Given the description of an element on the screen output the (x, y) to click on. 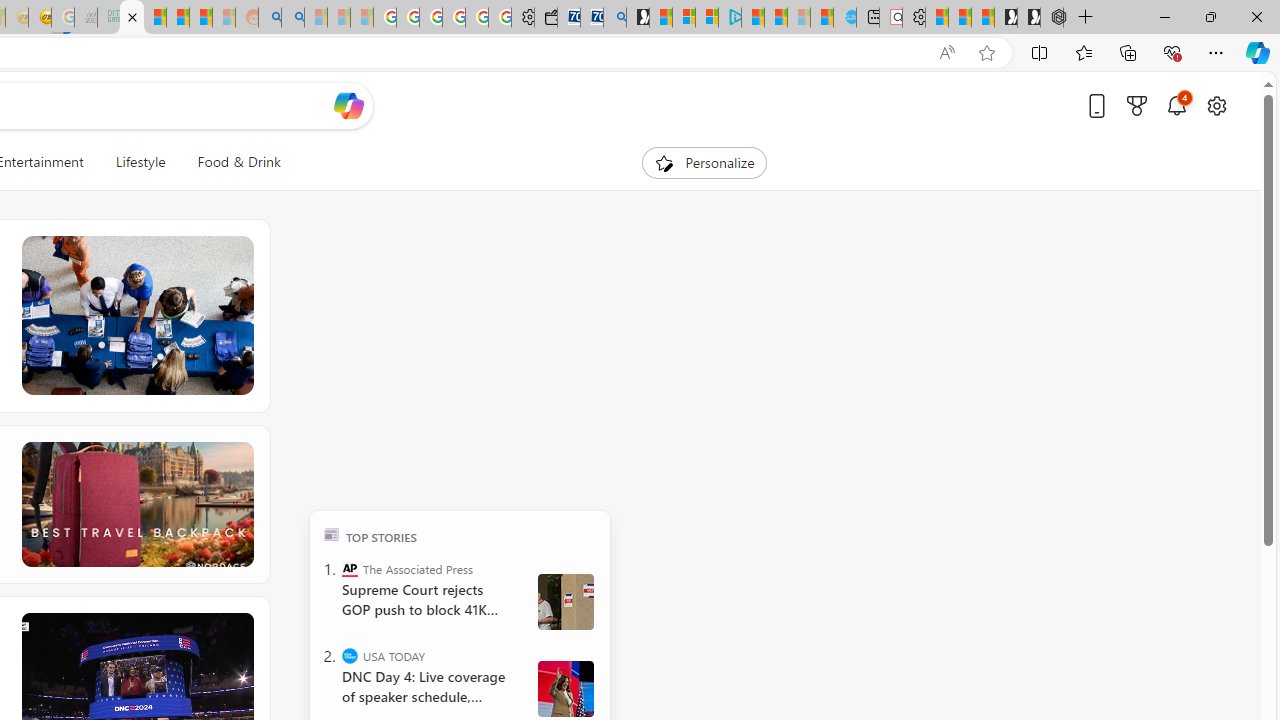
Utah sues federal government - Search (292, 17)
